Given the description of an element on the screen output the (x, y) to click on. 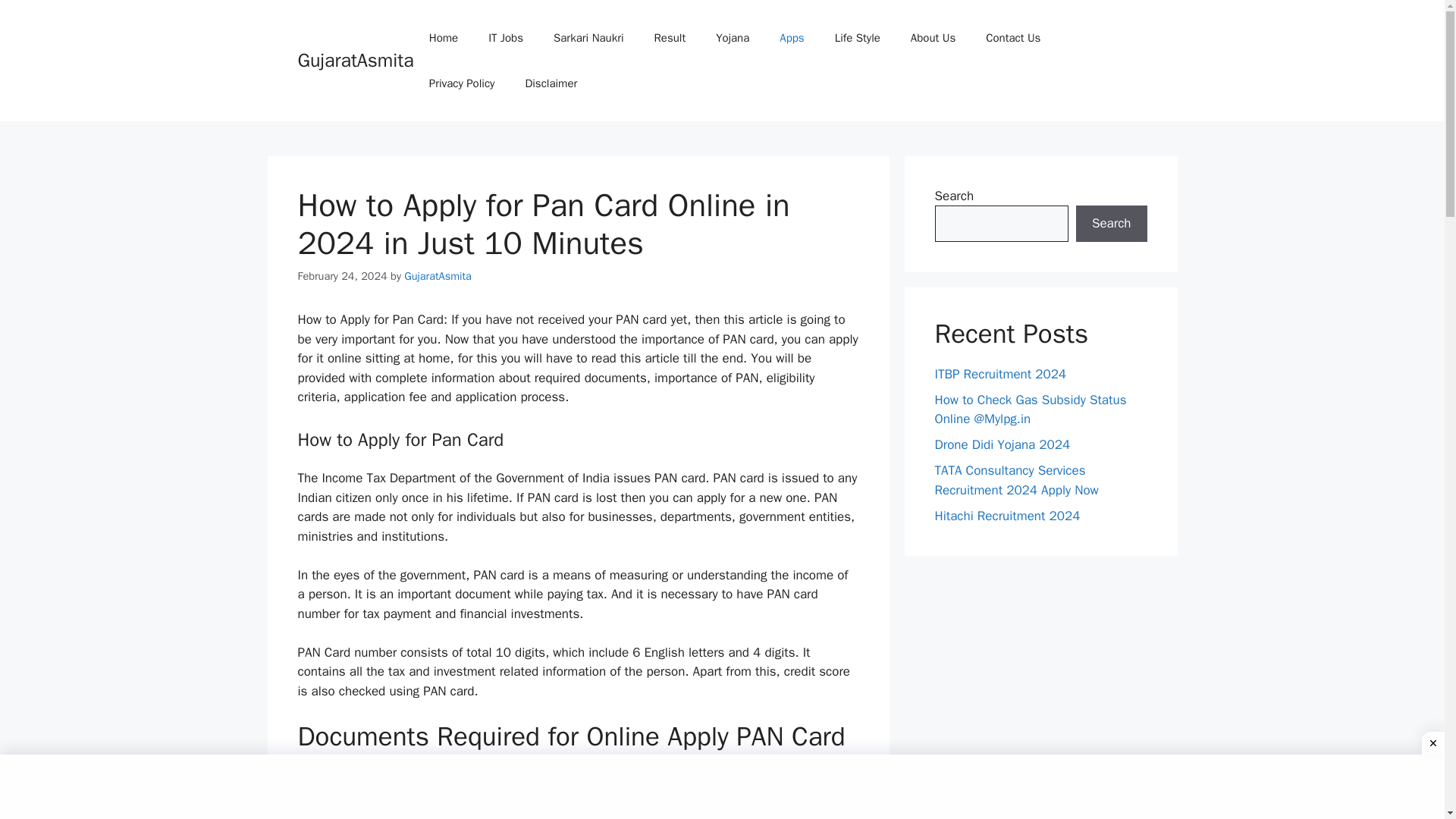
GujaratAsmita (437, 274)
Privacy Policy (462, 83)
Apps (791, 37)
Yojana (732, 37)
TATA Consultancy Services Recruitment 2024 Apply Now (1015, 479)
View all posts by GujaratAsmita (437, 274)
Sarkari Naukri (588, 37)
Contact Us (1013, 37)
Hitachi Recruitment 2024 (1007, 515)
Life Style (857, 37)
